Given the description of an element on the screen output the (x, y) to click on. 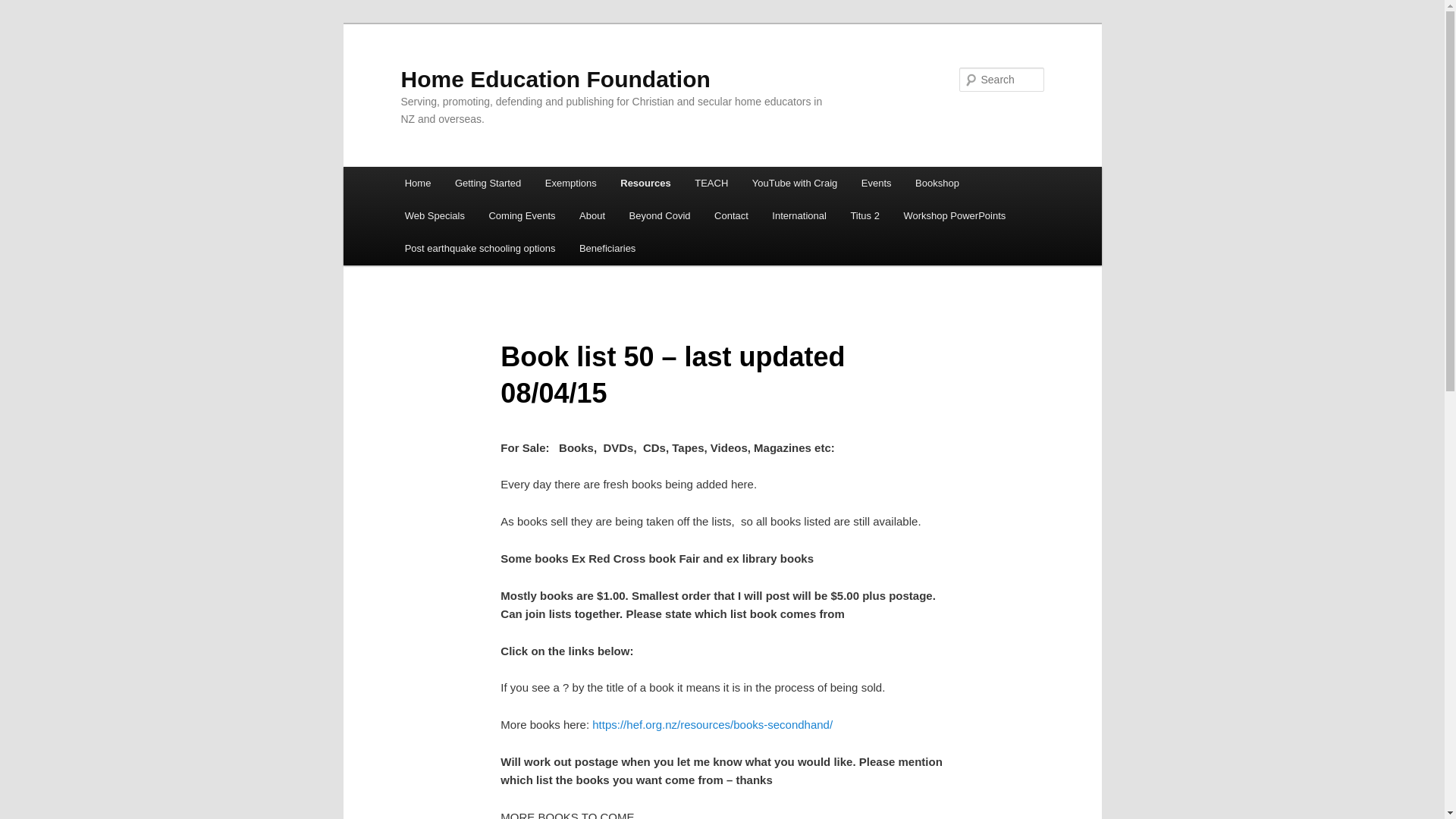
Resources (645, 183)
Home Education Foundation (555, 78)
Getting Started (487, 183)
Exemptions (570, 183)
Home (417, 183)
Search (24, 8)
